Given the description of an element on the screen output the (x, y) to click on. 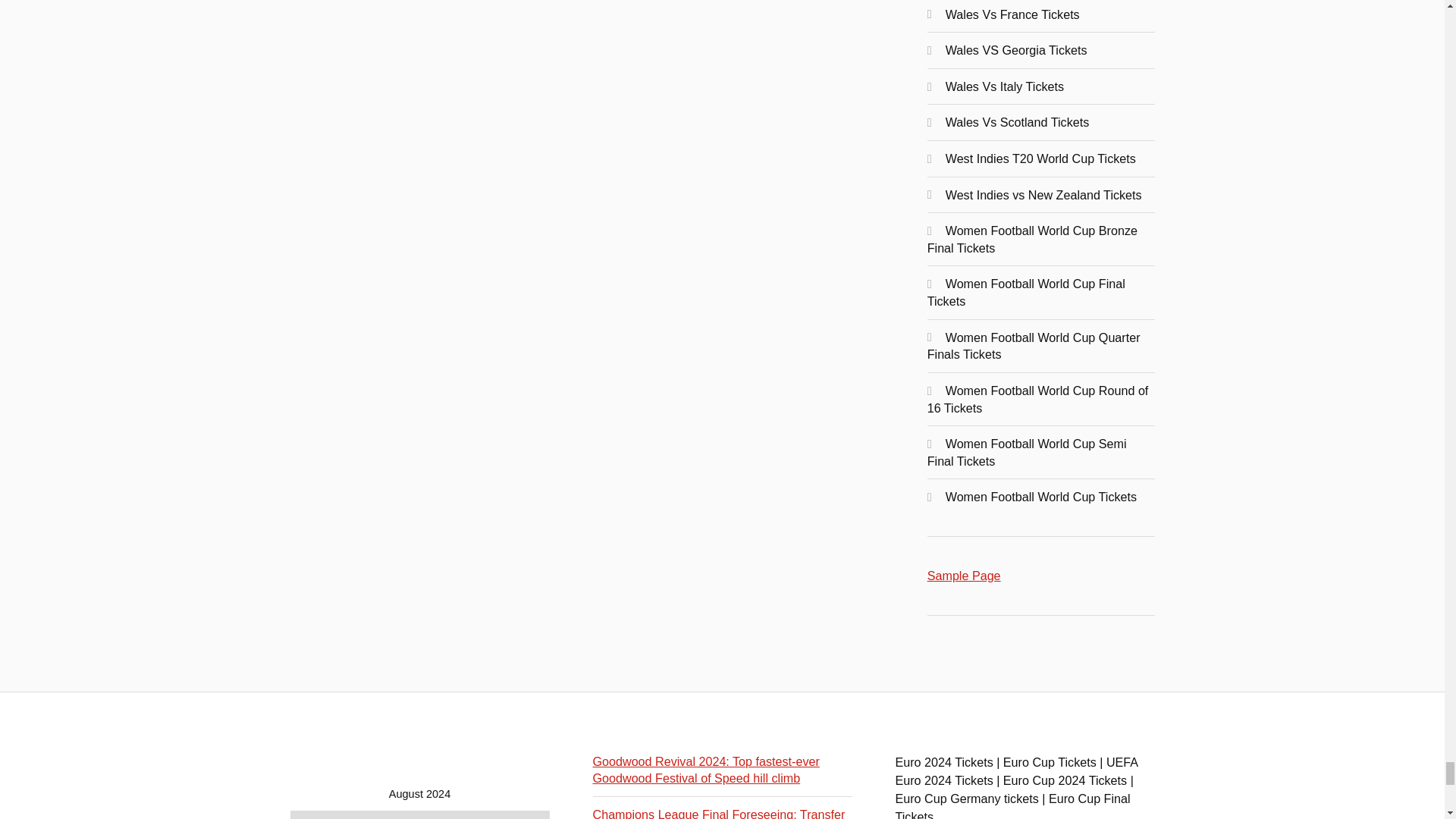
Thursday (419, 814)
Wednesday (382, 814)
Friday (457, 814)
Monday (308, 814)
Tuesday (346, 814)
Sunday (530, 814)
Saturday (494, 814)
